Given the description of an element on the screen output the (x, y) to click on. 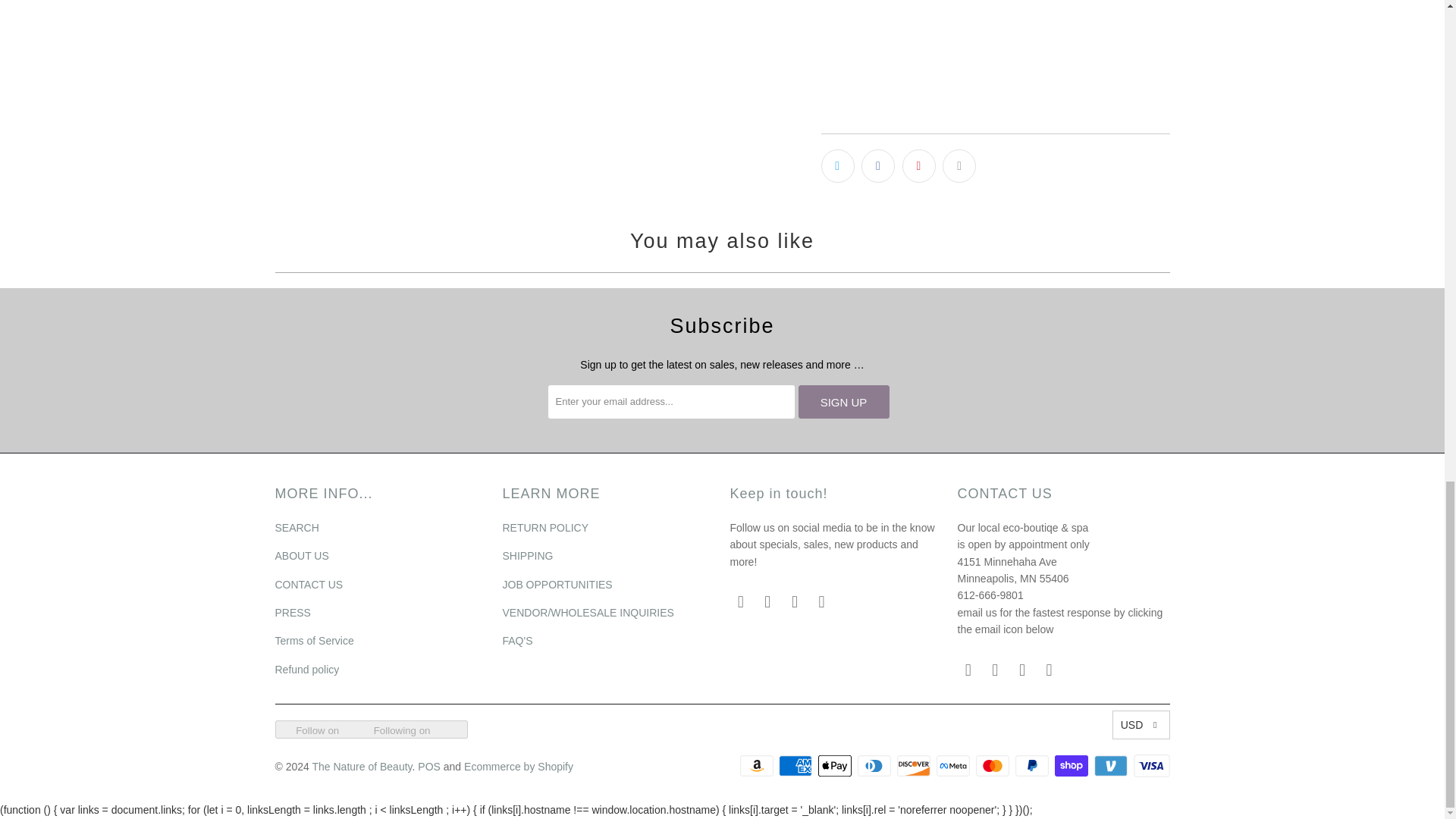
Sign Up (842, 401)
Visa (1150, 765)
Share this on Pinterest (919, 165)
Meta Pay (954, 765)
The Nature of Beauty on Facebook (767, 601)
Email The Nature of Beauty (967, 669)
Venmo (1112, 765)
PayPal (1032, 765)
Email The Nature of Beauty (740, 601)
Shop Pay (1072, 765)
Email this to a friend (958, 165)
The Nature of Beauty on Instagram (795, 601)
American Express (796, 765)
Mastercard (993, 765)
Share this on Twitter (837, 165)
